Given the description of an element on the screen output the (x, y) to click on. 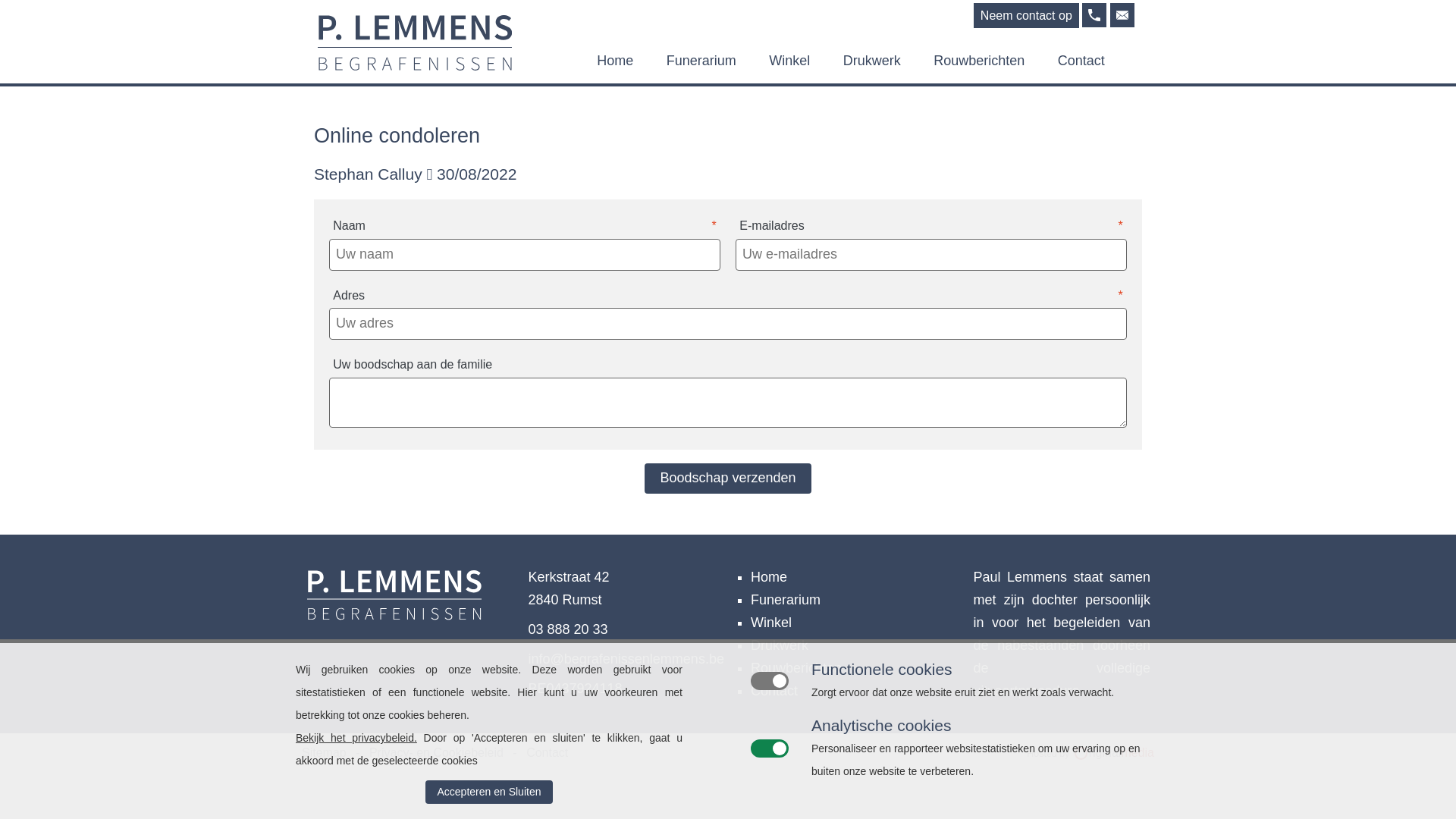
Sitemap Element type: text (323, 752)
Funerarium Element type: text (700, 60)
Accepteren en Sluiten Element type: text (488, 791)
Boodschap verzenden Element type: text (727, 478)
Begrafenissen P. Lemmens Element type: hover (413, 42)
Contact Element type: text (1081, 60)
info@begrafenissenlemmens.be Element type: text (625, 658)
Privacy- en Cookiebeleid Element type: text (432, 752)
Begrafenissen P. Lemmens Element type: hover (1094, 15)
riginalmedia Element type: text (1114, 752)
Winkel Element type: text (770, 622)
Neem contact op Element type: text (1026, 15)
Home Element type: text (768, 576)
Home Element type: text (614, 60)
Contact Element type: text (773, 690)
Winkel Element type: text (789, 60)
Drukwerk Element type: text (871, 60)
Drukwerk Element type: text (779, 644)
Contact Element type: text (543, 752)
Begrafenissen P. Lemmens Element type: hover (394, 615)
Rouwberichten Element type: text (978, 60)
Funerarium Element type: text (785, 599)
Bekijk het privacybeleid. Element type: text (356, 737)
Begrafenissen P. Lemmens Element type: hover (1122, 15)
Rouwberichten Element type: text (795, 667)
03 888 20 33 Element type: text (567, 629)
